Given the description of an element on the screen output the (x, y) to click on. 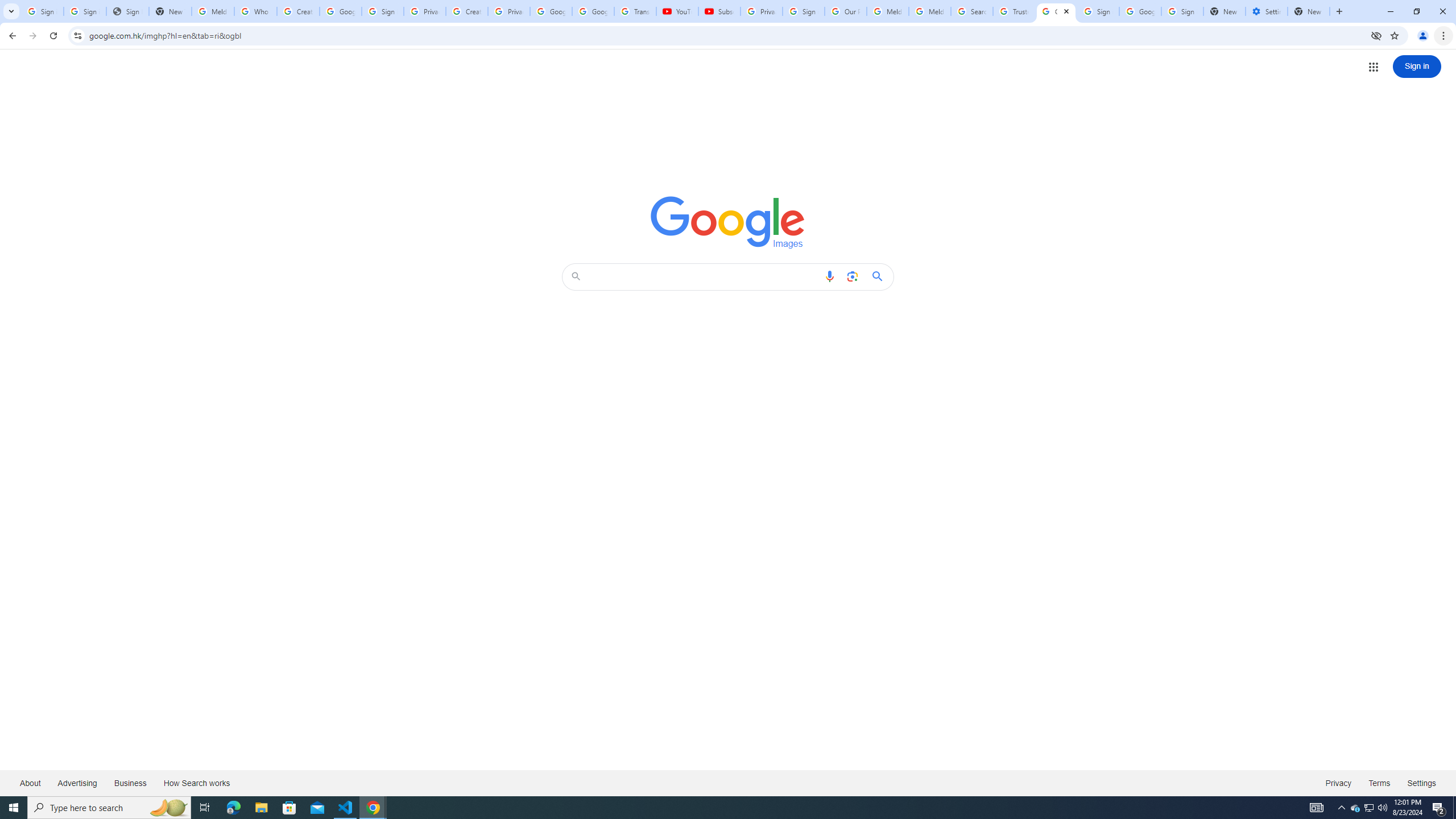
Chrome (1445, 35)
